Given the description of an element on the screen output the (x, y) to click on. 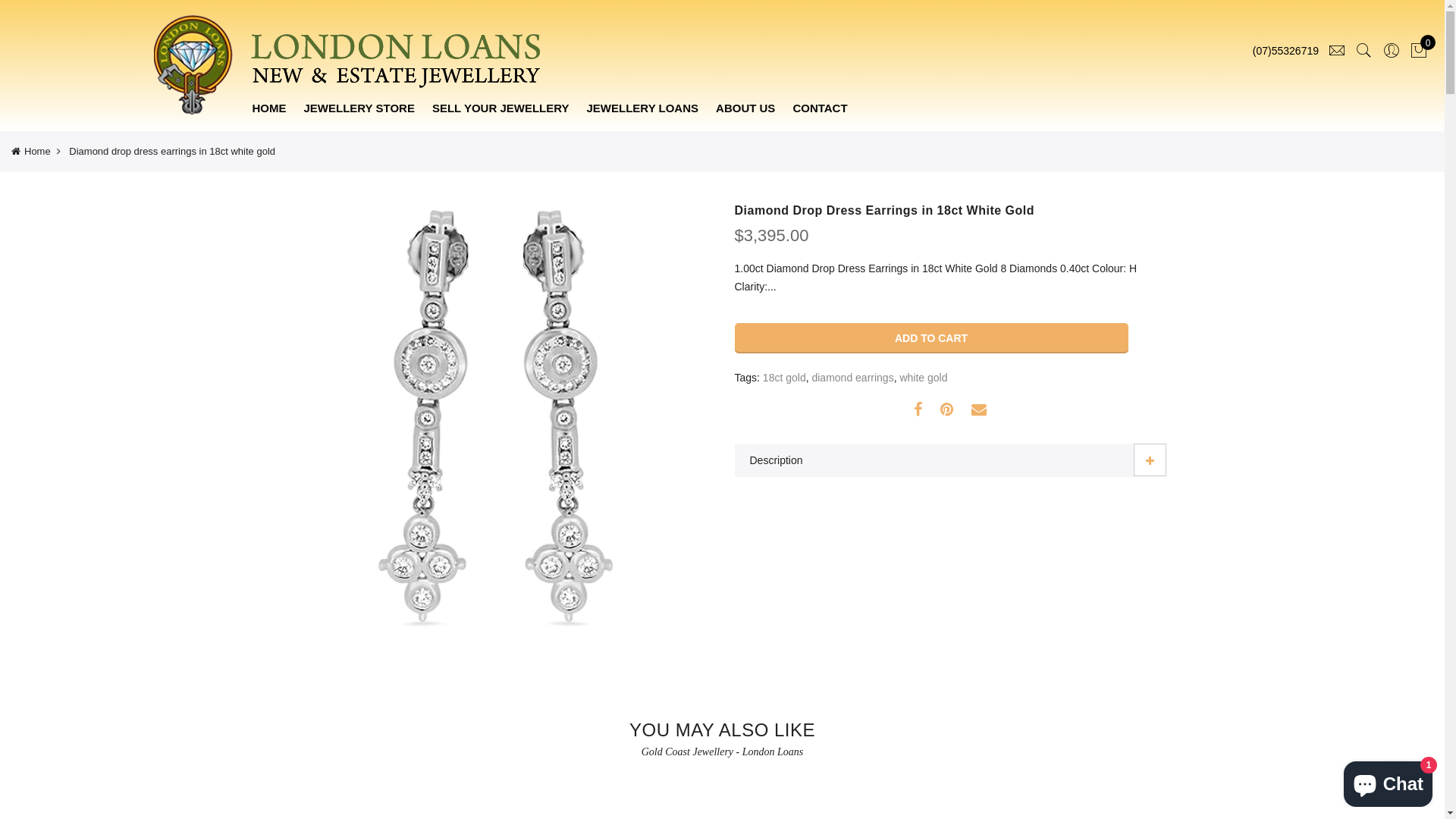
18ct gold Element type: text (784, 377)
Description Element type: text (949, 460)
Shopify online store chat Element type: hover (1388, 780)
Share this post on Email Element type: hover (978, 409)
Share this post on Facebook Element type: hover (917, 409)
JEWELLERY STORE Element type: text (358, 107)
Home Element type: text (30, 150)
0 Element type: text (1418, 50)
ADD TO CART Element type: text (930, 338)
white gold Element type: text (923, 377)
Share this post on Pinterest Element type: hover (946, 409)
ABOUT US Element type: text (745, 107)
HOME Element type: text (268, 107)
CONTACT Element type: text (819, 107)
diamond earrings Element type: text (852, 377)
(07)55326719 Element type: text (1285, 50)
SELL YOUR JEWELLERY Element type: text (500, 107)
JEWELLERY LOANS Element type: text (642, 107)
